Given the description of an element on the screen output the (x, y) to click on. 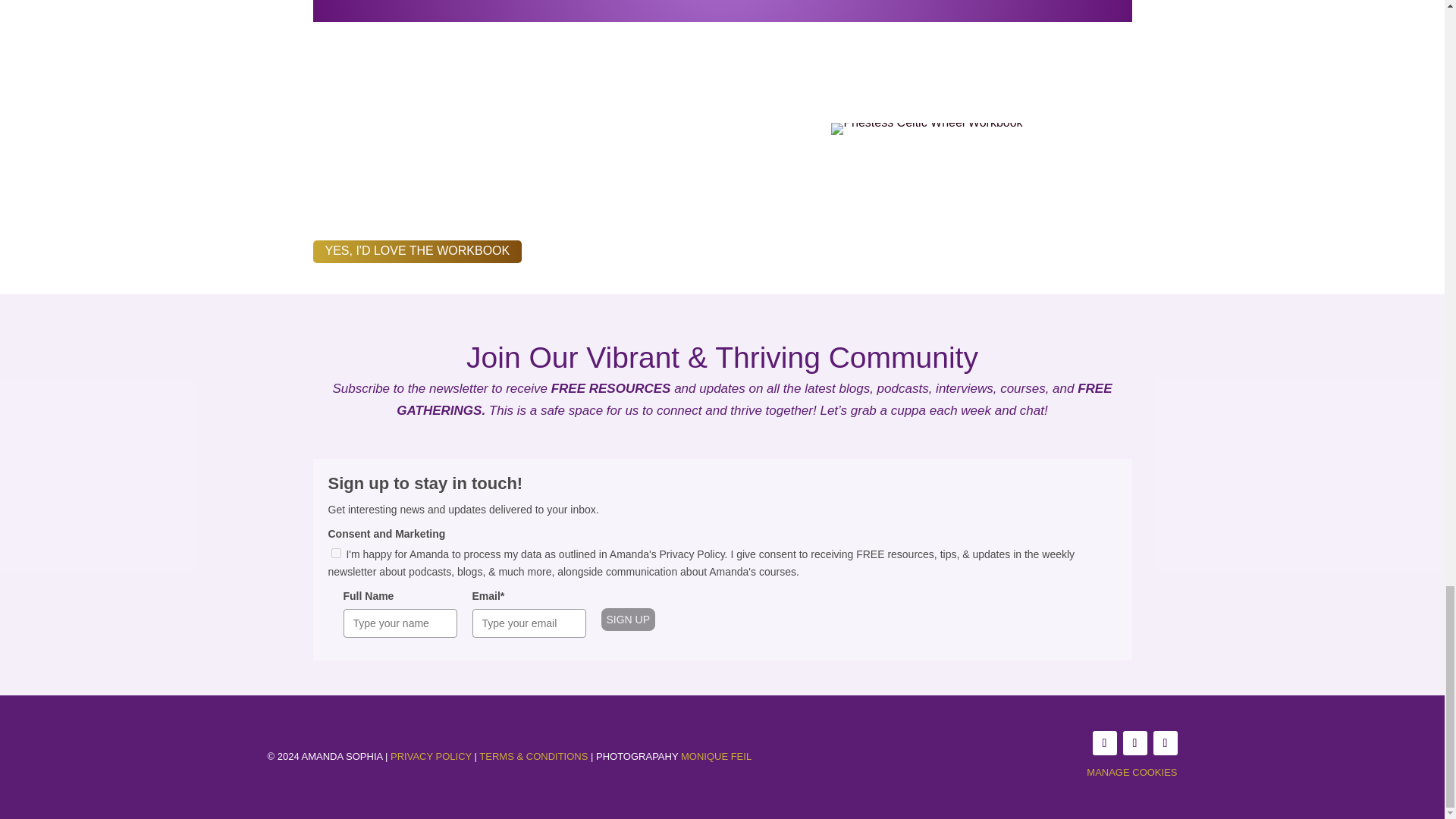
Follow on Instagram (1134, 743)
Follow on Facebook (1104, 743)
Follow on Youtube (1164, 743)
priestess-workbook-phone (926, 122)
